Given the description of an element on the screen output the (x, y) to click on. 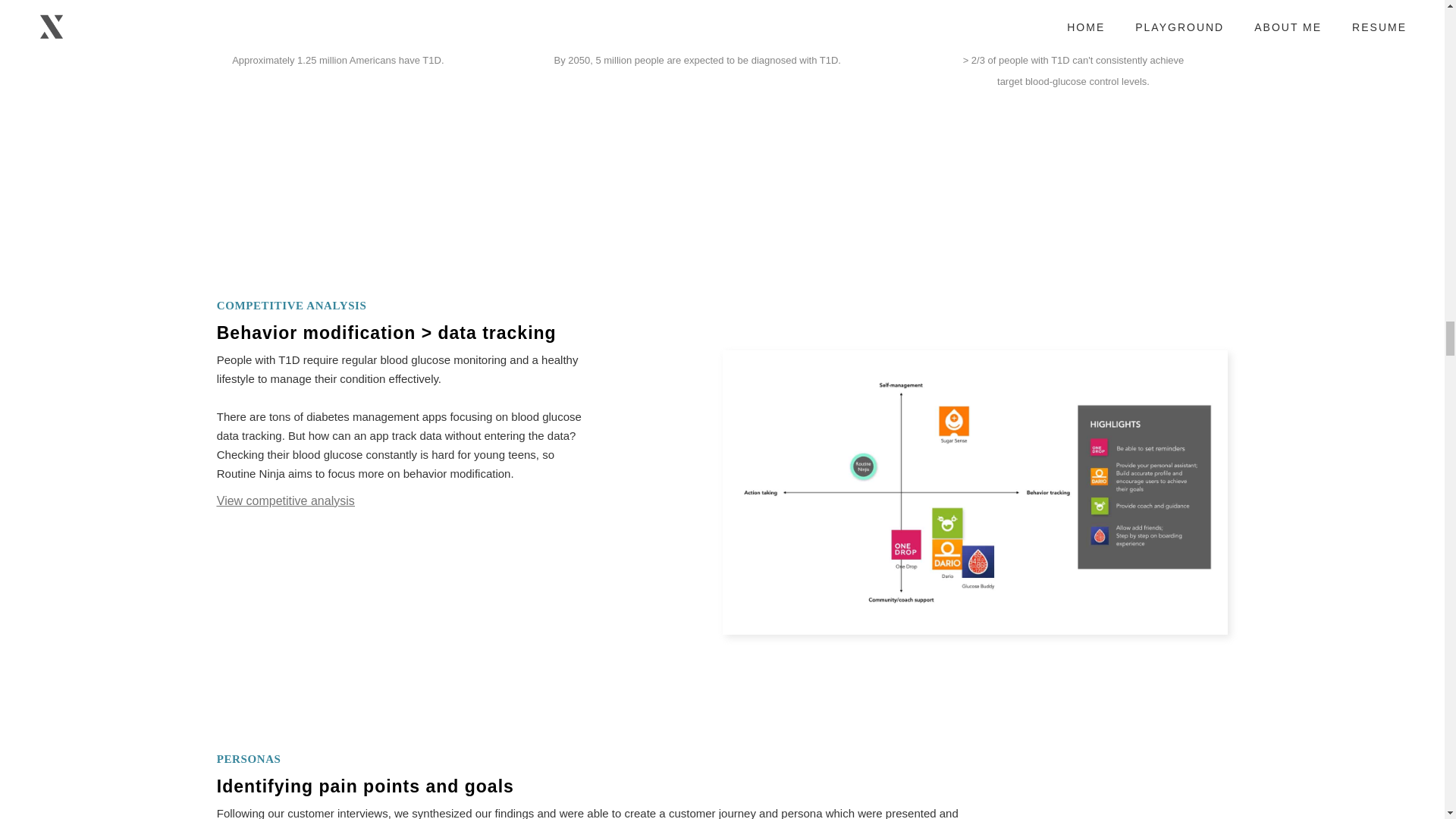
View competitive analysis (285, 500)
